Given the description of an element on the screen output the (x, y) to click on. 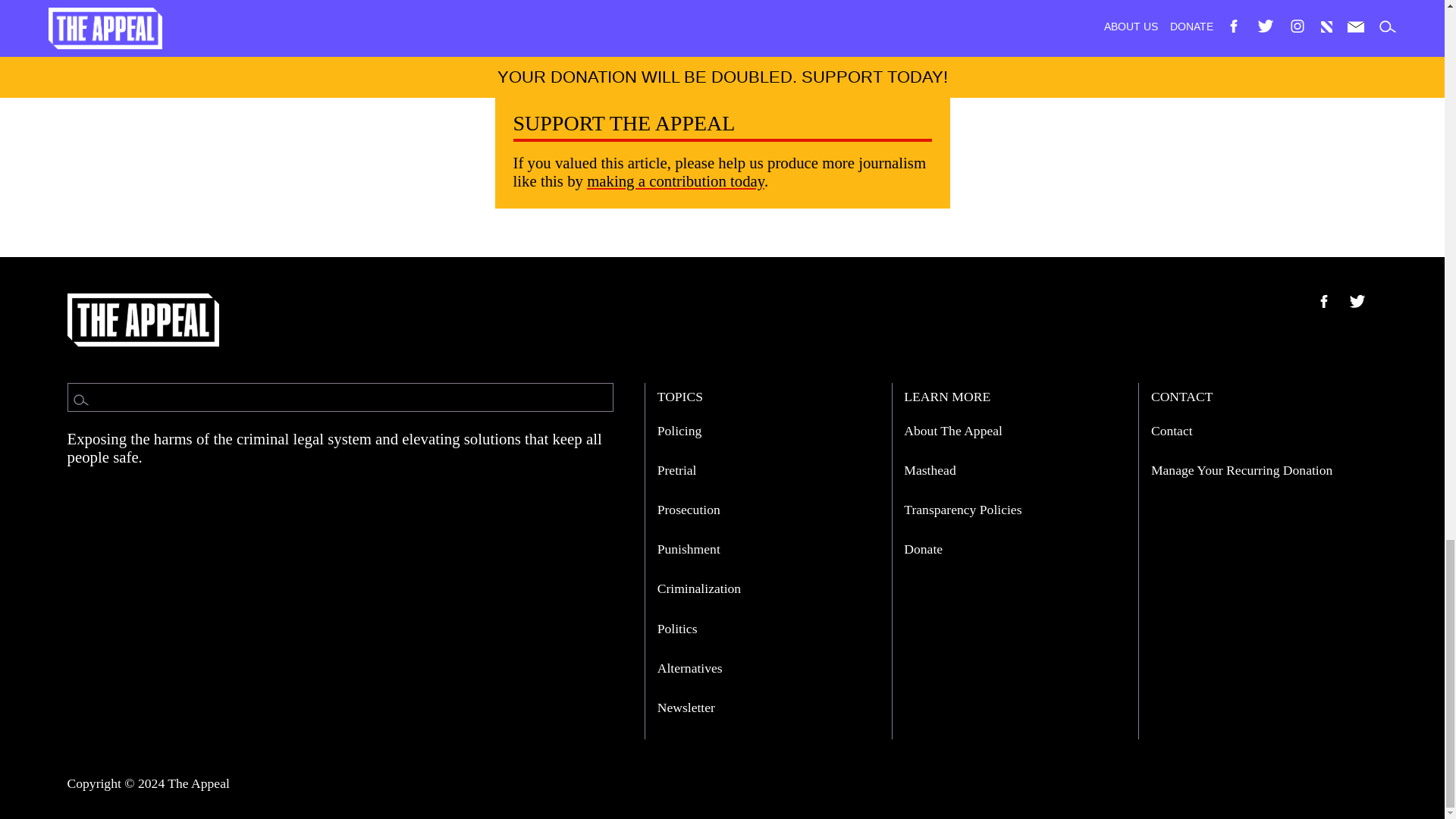
Pretrial (677, 469)
Policing (679, 430)
Prosecution (689, 509)
